Given the description of an element on the screen output the (x, y) to click on. 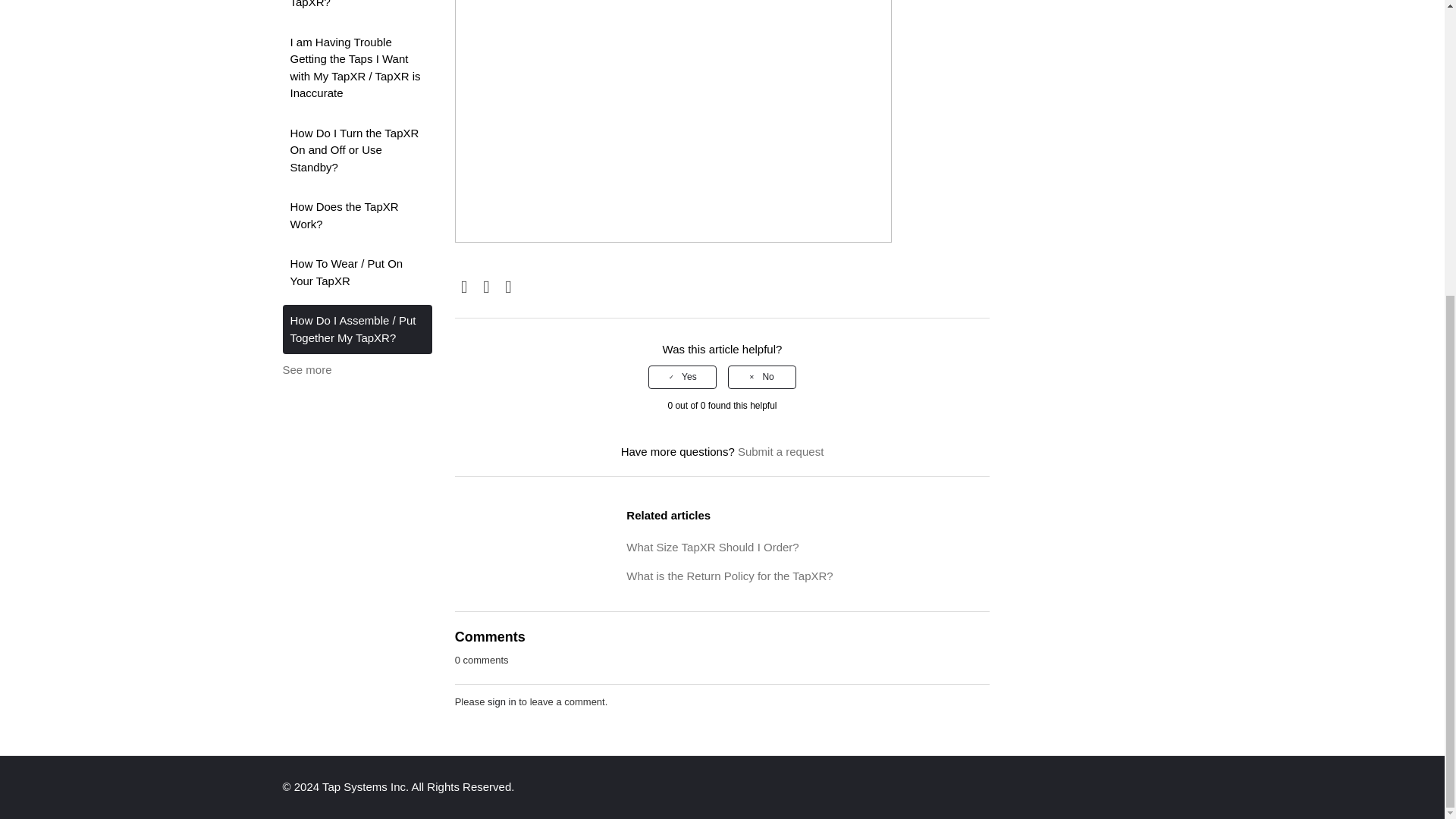
sign in (501, 701)
How Does the TapXR Work? (356, 215)
No (762, 376)
Twitter (486, 287)
How Do I Turn the TapXR On and Off or Use Standby? (356, 150)
See more (306, 369)
What is the Return Policy for the TapXR? (729, 575)
Submit a request (781, 451)
What Size TapXR Should I Order? (711, 546)
LinkedIn (508, 287)
Facebook (464, 287)
Yes (681, 376)
How Do I Charge My TapXR? (356, 9)
